Given the description of an element on the screen output the (x, y) to click on. 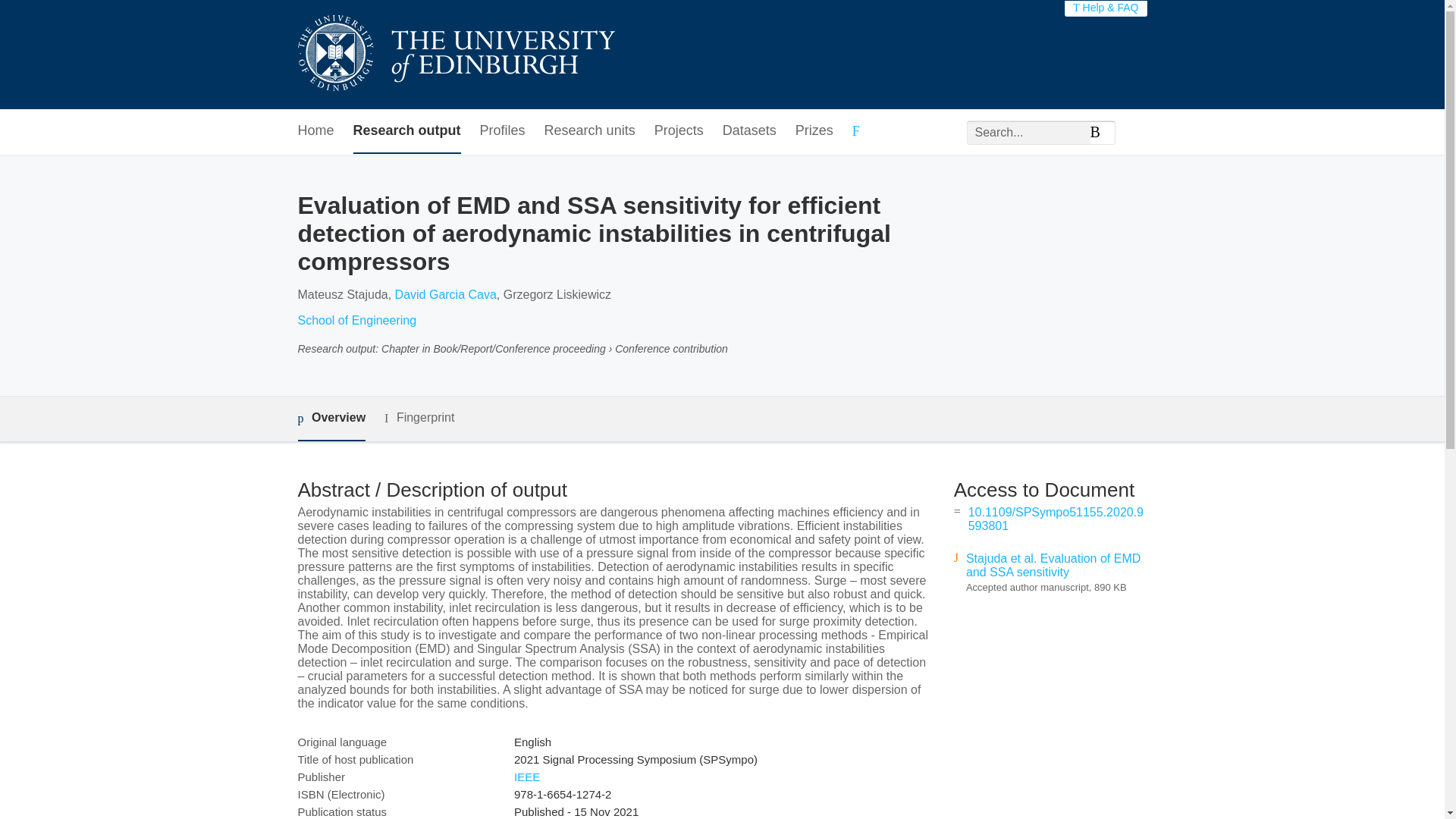
Stajuda et al. Evaluation of EMD and SSA sensitivity (1053, 565)
David Garcia Cava (445, 294)
IEEE (526, 776)
Fingerprint (419, 417)
School of Engineering (356, 319)
Research output (407, 130)
Research units (589, 130)
Datasets (749, 130)
Overview (331, 418)
University of Edinburgh Research Explorer Home (455, 54)
Profiles (502, 130)
Projects (678, 130)
